Given the description of an element on the screen output the (x, y) to click on. 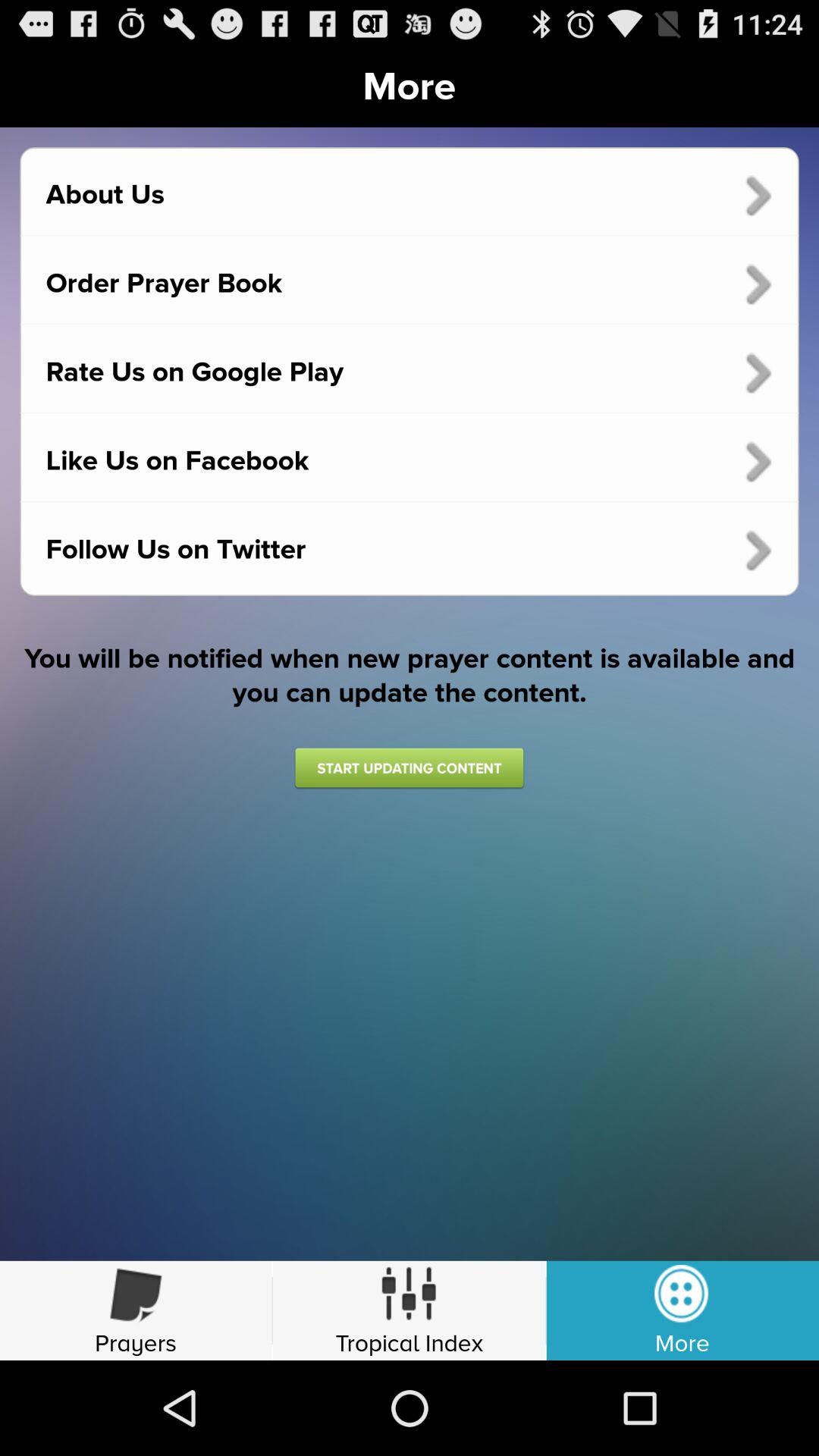
bottom right corner option (683, 1309)
select second option under more (409, 284)
click on option below like us on facebook (409, 558)
select the text below the order prayer book (409, 373)
